Given the description of an element on the screen output the (x, y) to click on. 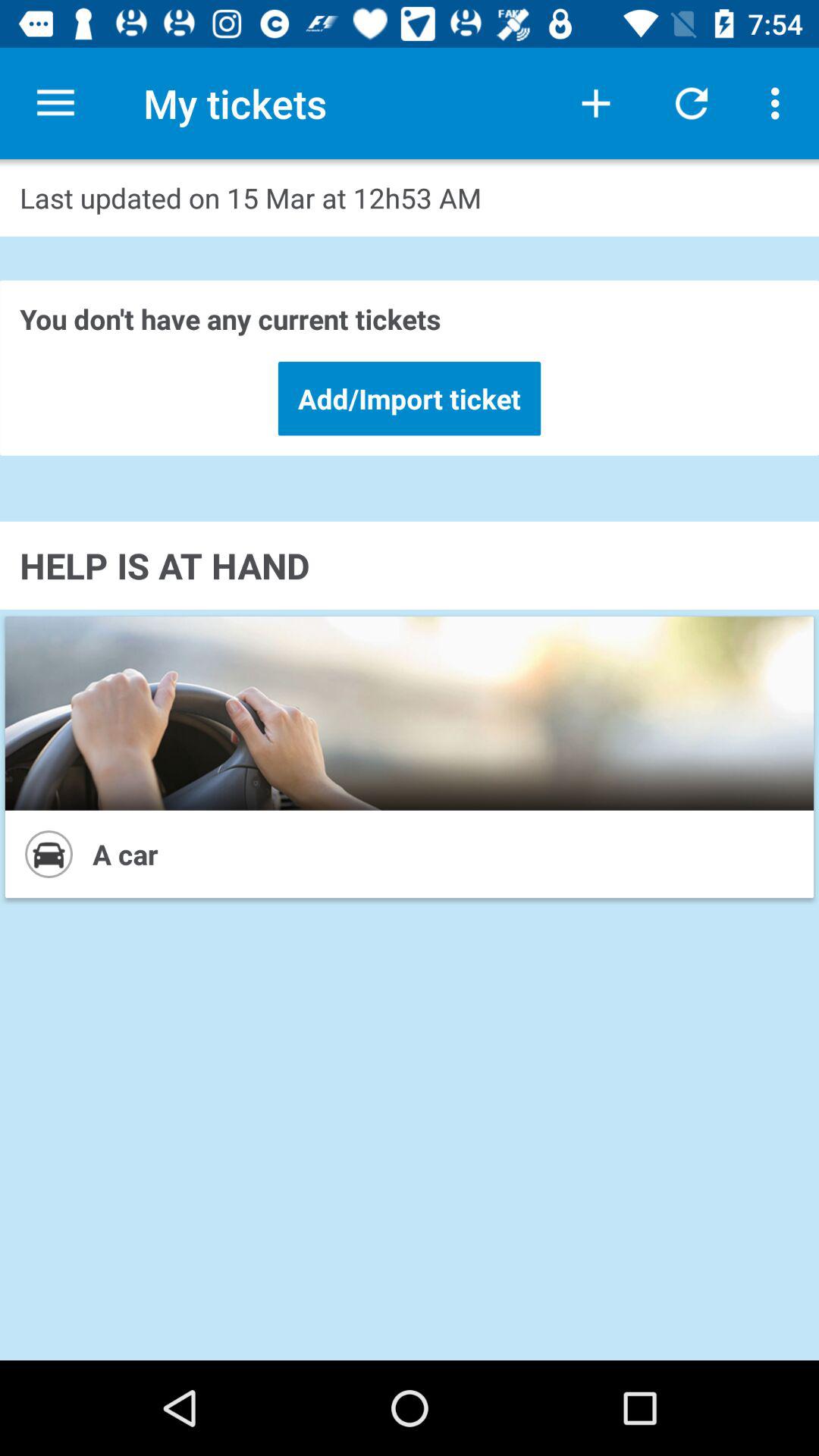
jump until add/import ticket (409, 398)
